Given the description of an element on the screen output the (x, y) to click on. 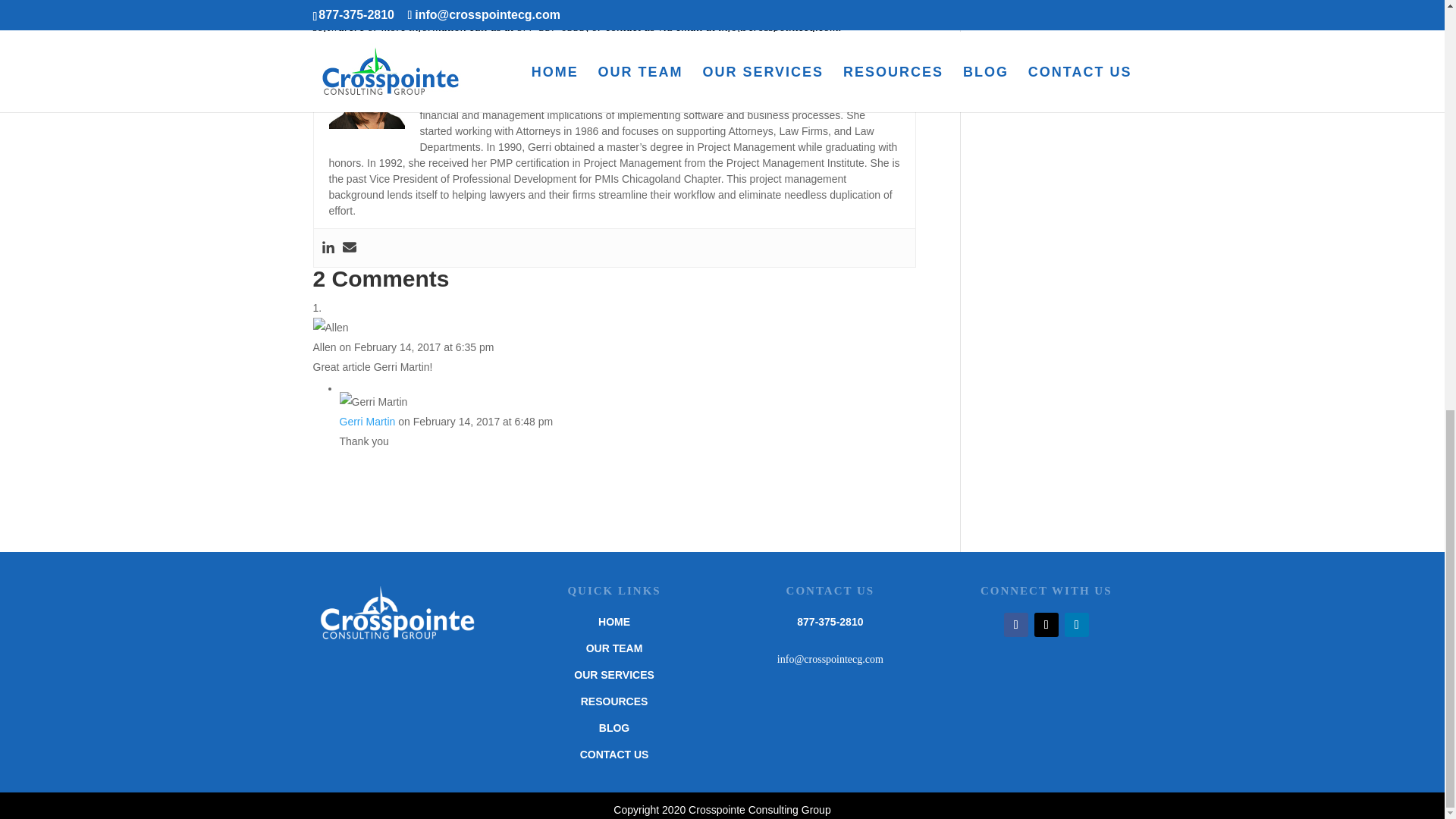
Gerri Martin (367, 421)
Follow on LinkedIn (1076, 624)
Follow on X (1045, 624)
Gerri Martin (456, 61)
Follow on Facebook (1015, 624)
User email (349, 247)
Linkedin (327, 247)
